Given the description of an element on the screen output the (x, y) to click on. 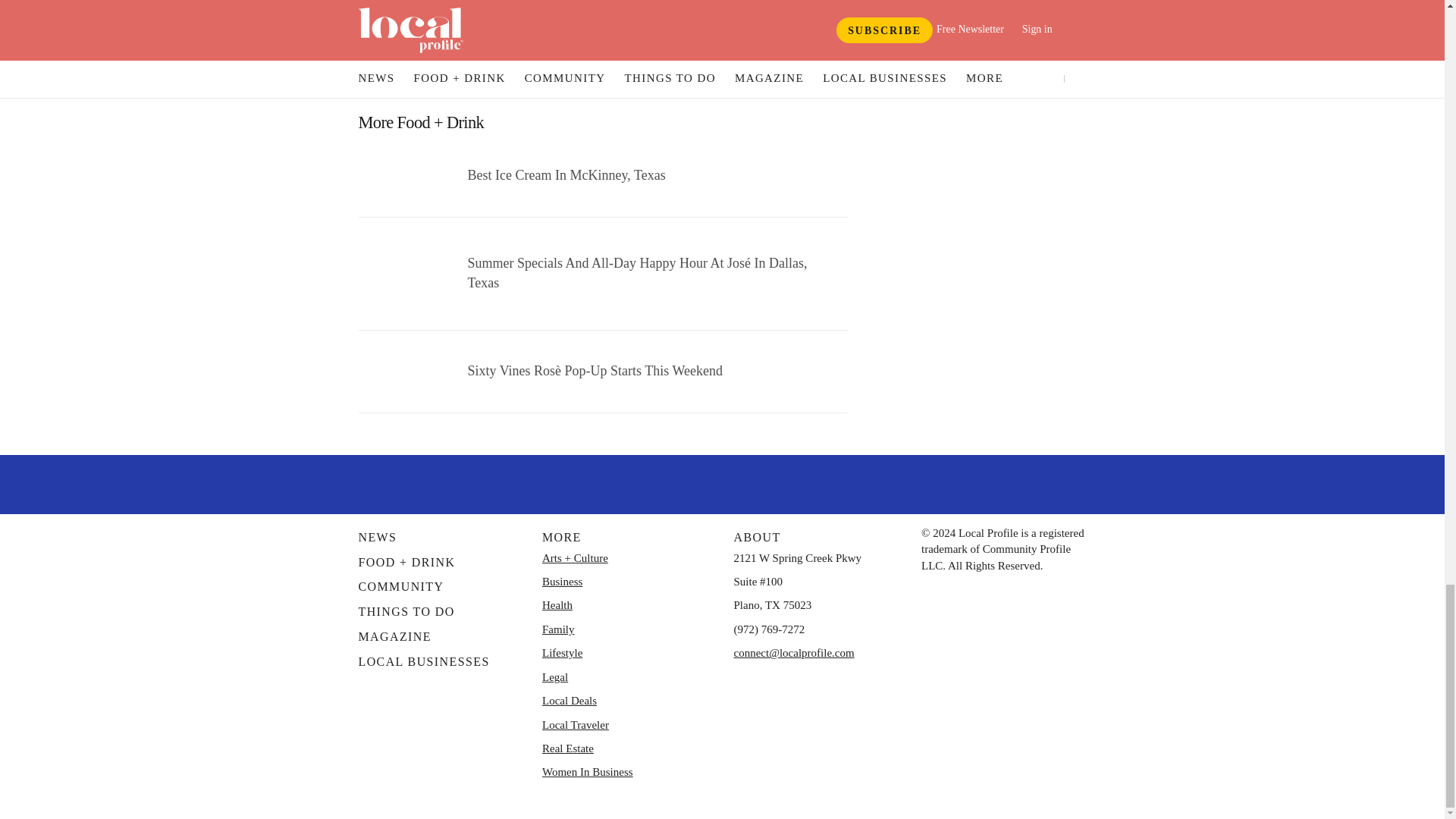
LinkedIn (800, 482)
X (683, 482)
Facebook (644, 482)
YouTube (760, 482)
Instagram (721, 482)
